Given the description of an element on the screen output the (x, y) to click on. 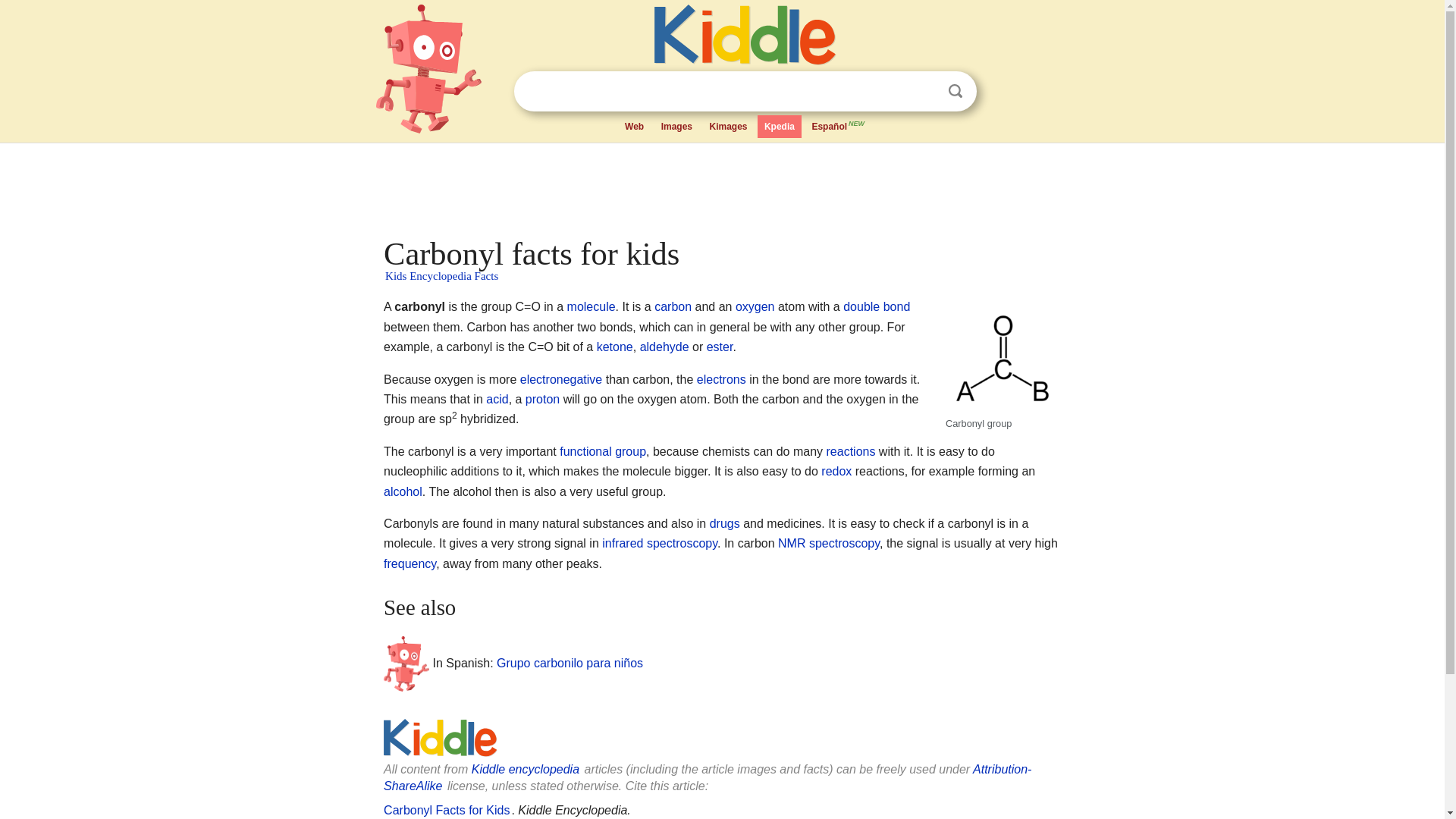
redox (836, 471)
Attribution-ShareAlike (707, 777)
Ketone (614, 346)
infrared spectroscopy (659, 543)
Kimages (727, 126)
frequency (409, 563)
Aldehyde (664, 346)
Infrared spectroscopy (659, 543)
Molecule (591, 306)
Electronegativity (560, 379)
